Given the description of an element on the screen output the (x, y) to click on. 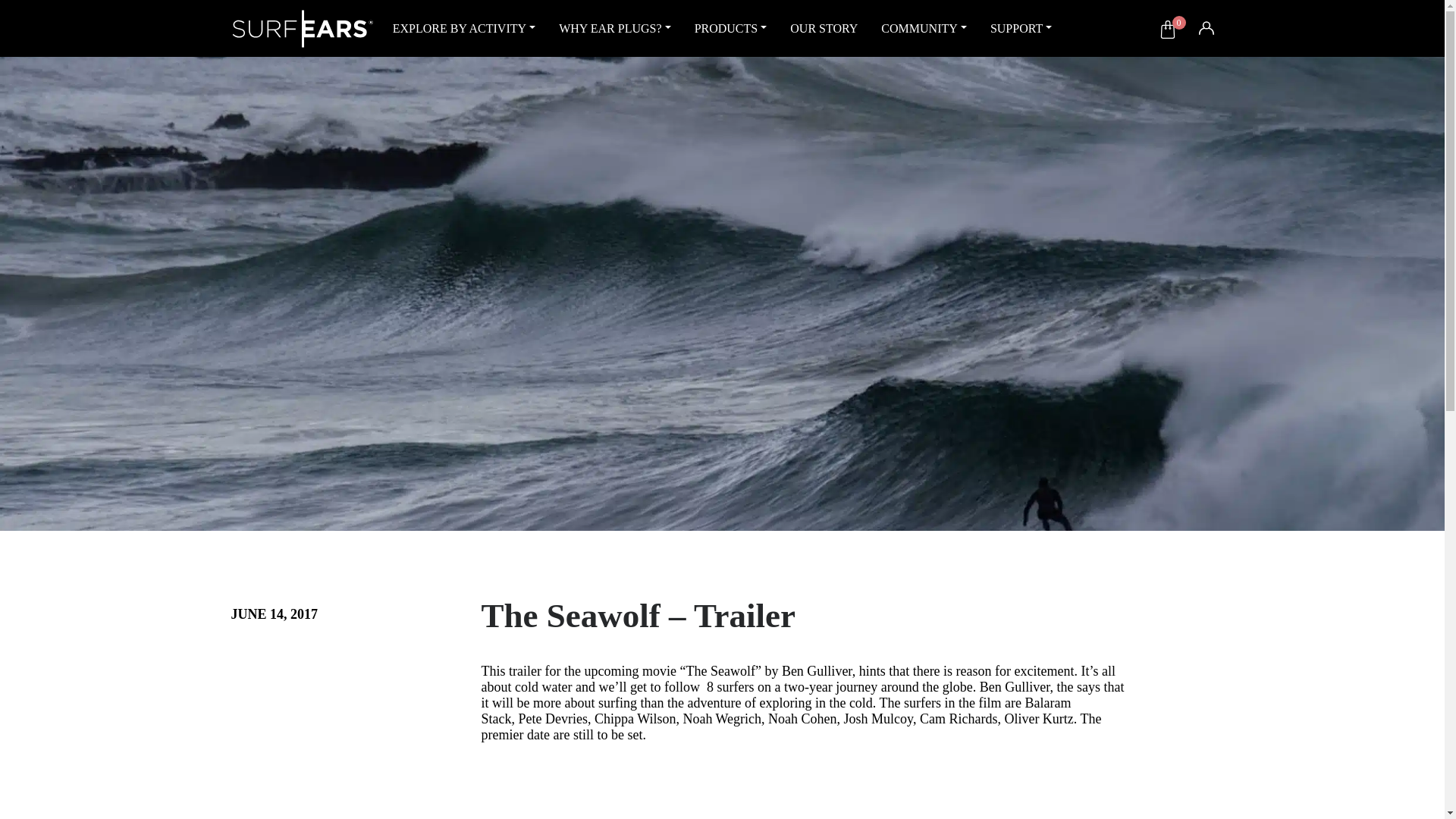
Surfears (302, 27)
SUPPORT (1021, 27)
COMMUNITY (923, 27)
The Seawolf - Trailer (804, 807)
OUR STORY (823, 27)
EXPLORE BY ACTIVITY (464, 27)
PRODUCTS (730, 27)
WHY EAR PLUGS? (615, 27)
0 (1167, 28)
